Given the description of an element on the screen output the (x, y) to click on. 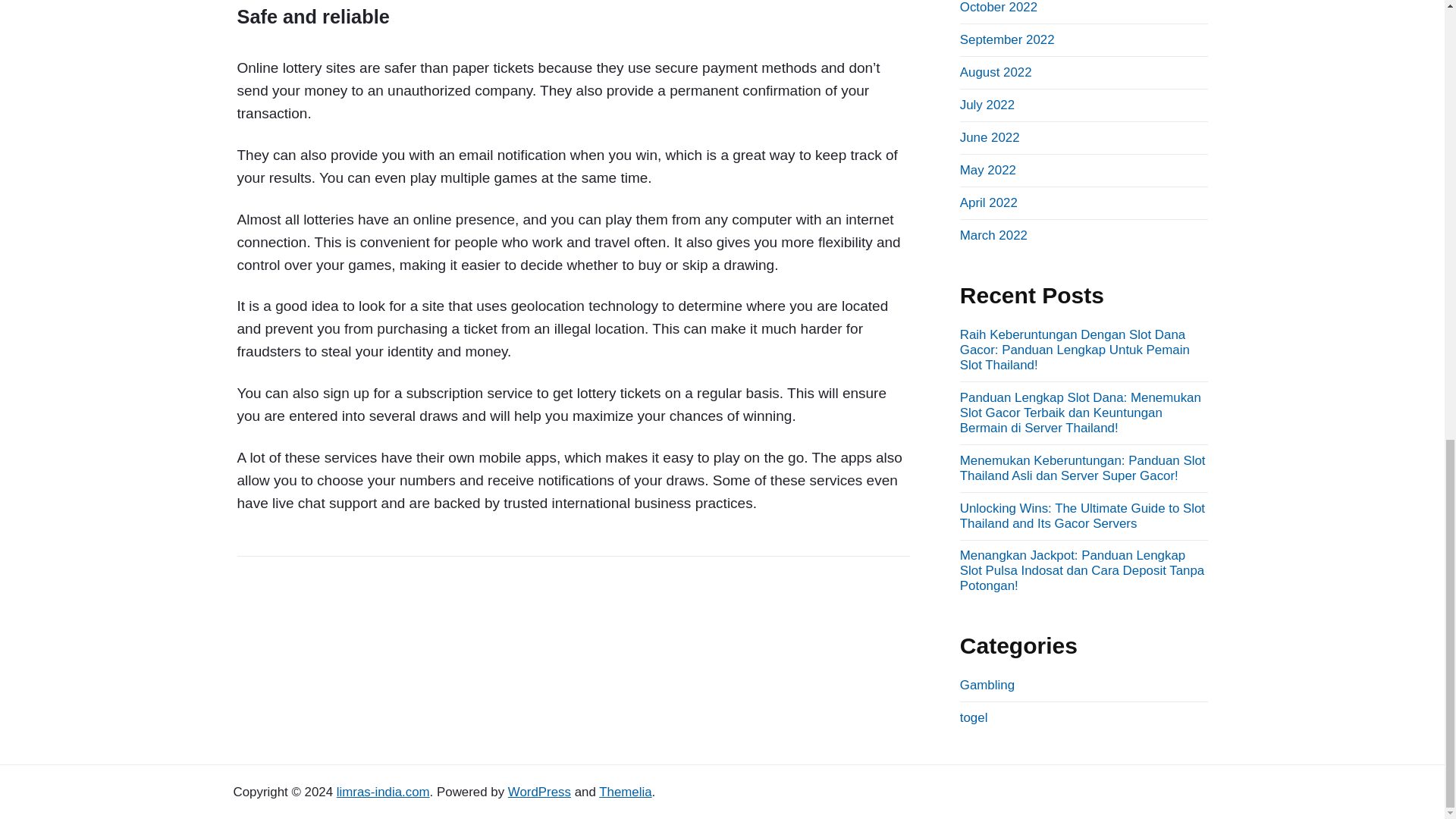
June 2022 (989, 137)
August 2022 (995, 72)
March 2022 (993, 235)
May 2022 (987, 169)
September 2022 (1006, 39)
July 2022 (986, 104)
April 2022 (988, 202)
